Given the description of an element on the screen output the (x, y) to click on. 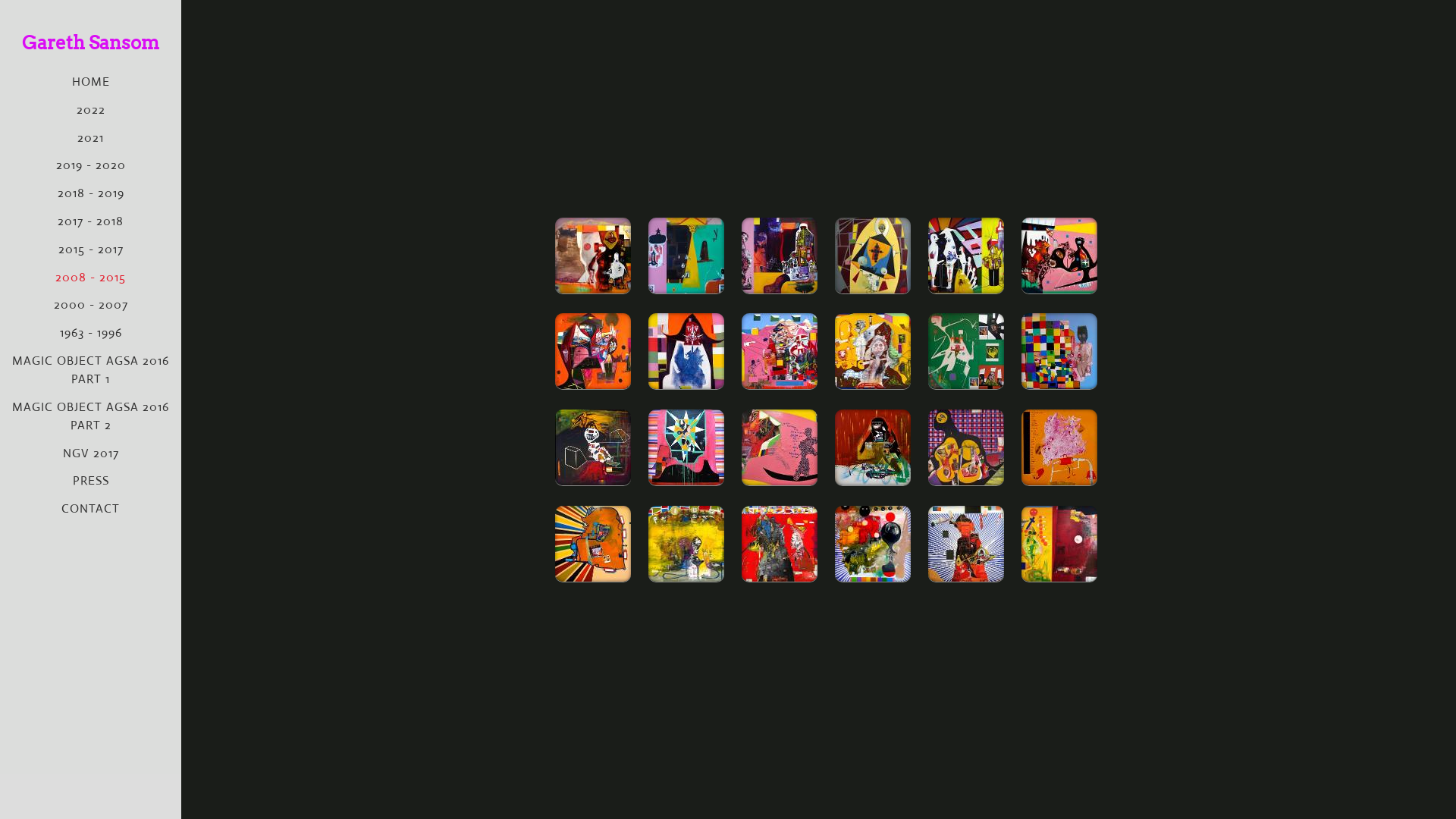
2018 - 2019 Element type: text (90, 192)
2019 - 2020 Element type: text (90, 164)
2022 Element type: text (90, 109)
2021 Element type: text (90, 137)
MAGIC OBJECT AGSA 2016 PART 2 Element type: text (90, 415)
Gareth Sansom Element type: text (90, 42)
1963 - 1996 Element type: text (90, 332)
2008 - 2015 Element type: text (90, 277)
NGV 2017 Element type: text (90, 453)
MAGIC OBJECT AGSA 2016 PART 1 Element type: text (90, 369)
2015 - 2017 Element type: text (90, 249)
CONTACT Element type: text (90, 508)
PRESS Element type: text (90, 480)
HOME Element type: text (90, 81)
2017 - 2018 Element type: text (90, 221)
2000 - 2007 Element type: text (90, 304)
